Given the description of an element on the screen output the (x, y) to click on. 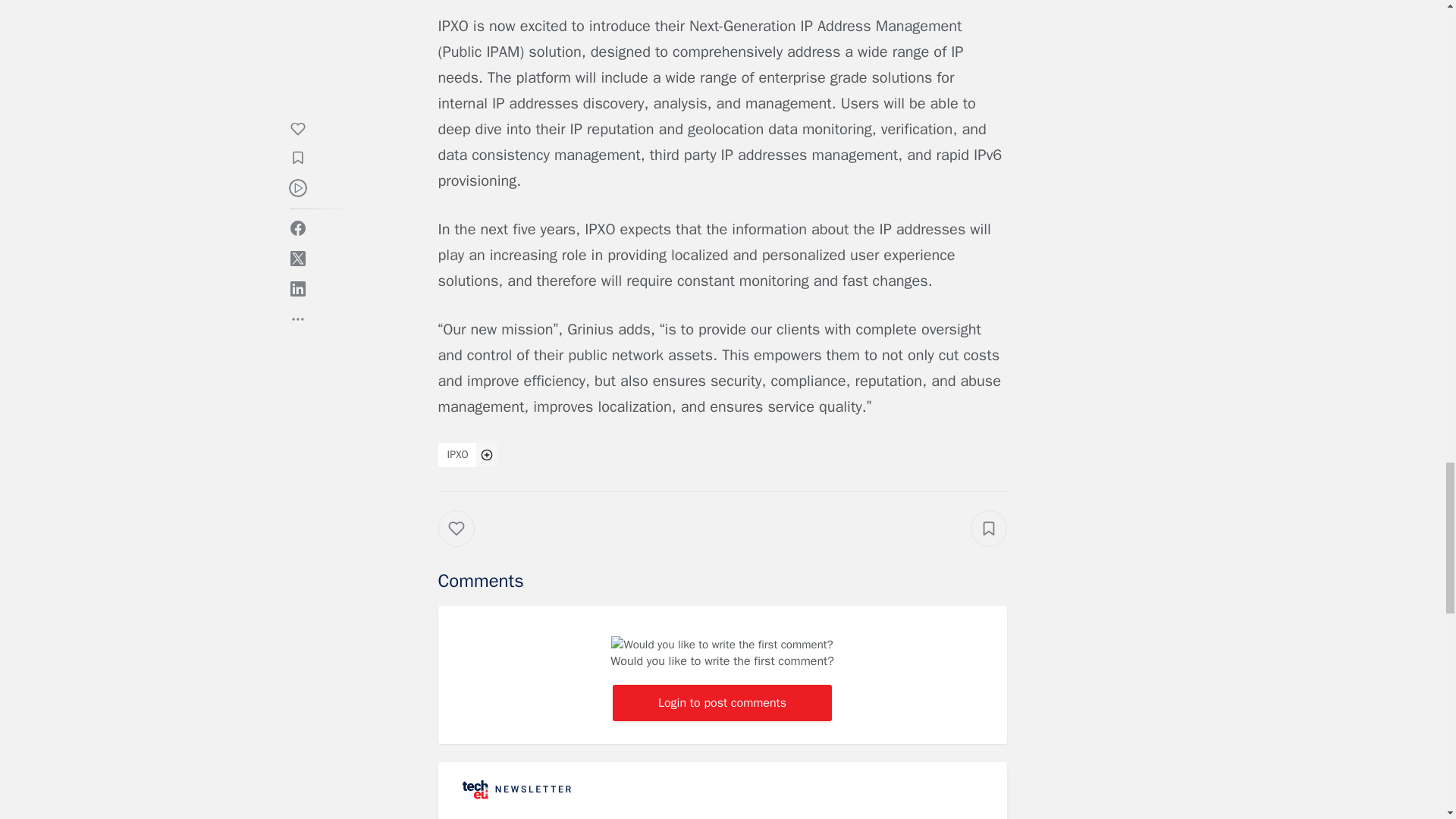
IPXO (457, 454)
Add to collection (989, 528)
Like (467, 542)
